Given the description of an element on the screen output the (x, y) to click on. 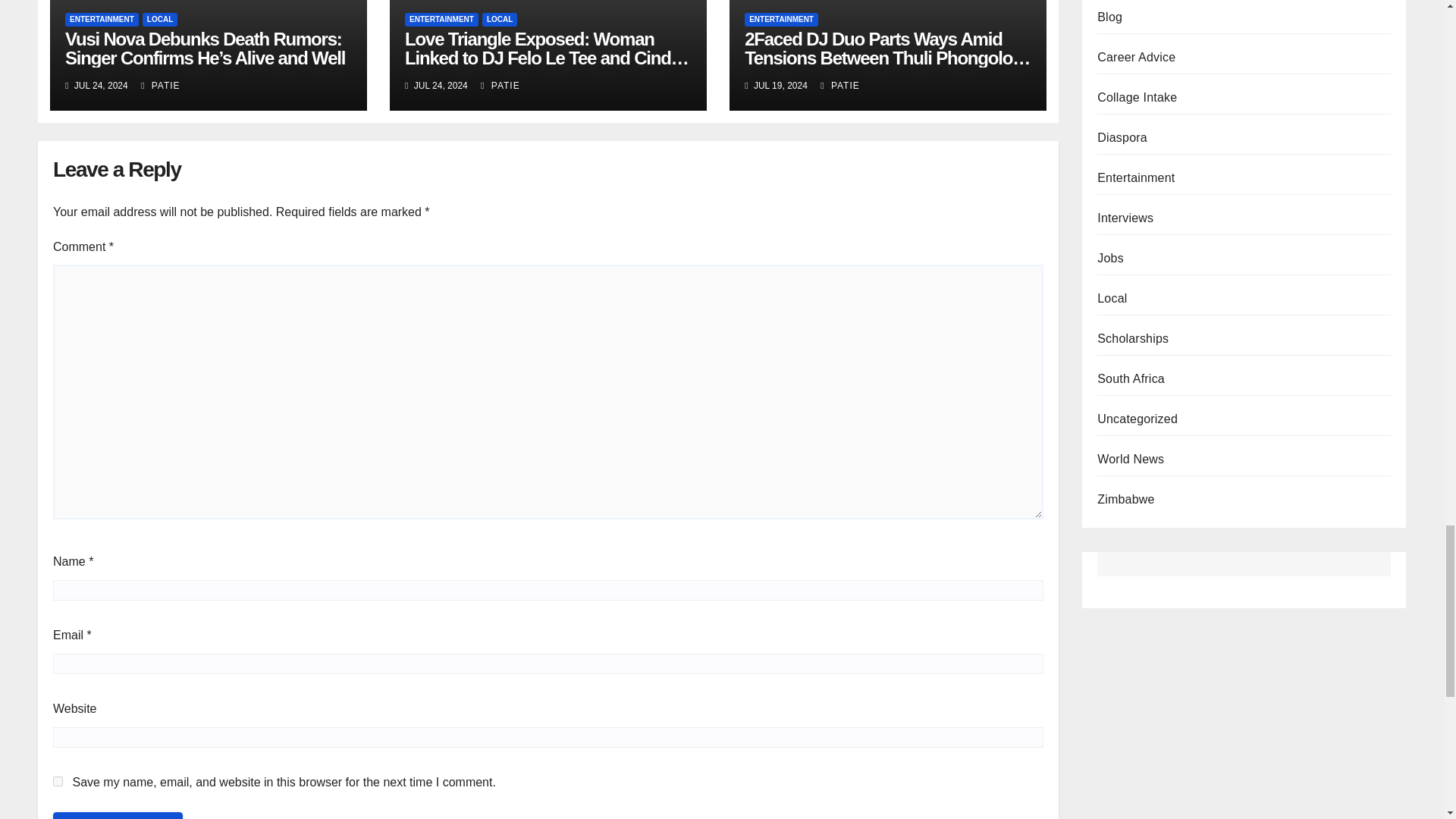
LOCAL (498, 19)
yes (57, 781)
PATIE (499, 85)
LOCAL (159, 19)
ENTERTAINMENT (781, 19)
PATIE (160, 85)
Post Comment (117, 815)
ENTERTAINMENT (101, 19)
ENTERTAINMENT (441, 19)
